Given the description of an element on the screen output the (x, y) to click on. 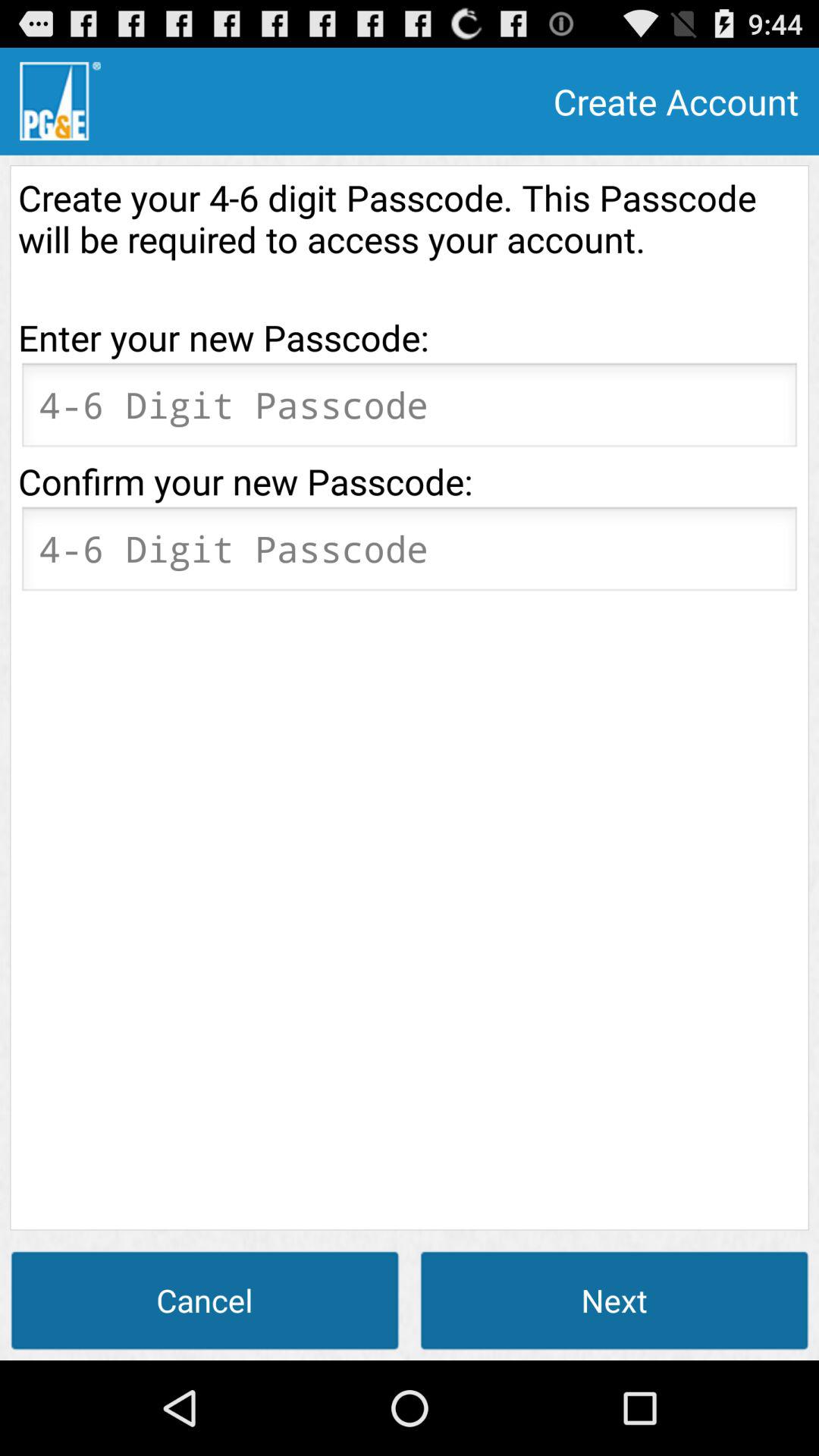
launch the next at the bottom right corner (613, 1300)
